Given the description of an element on the screen output the (x, y) to click on. 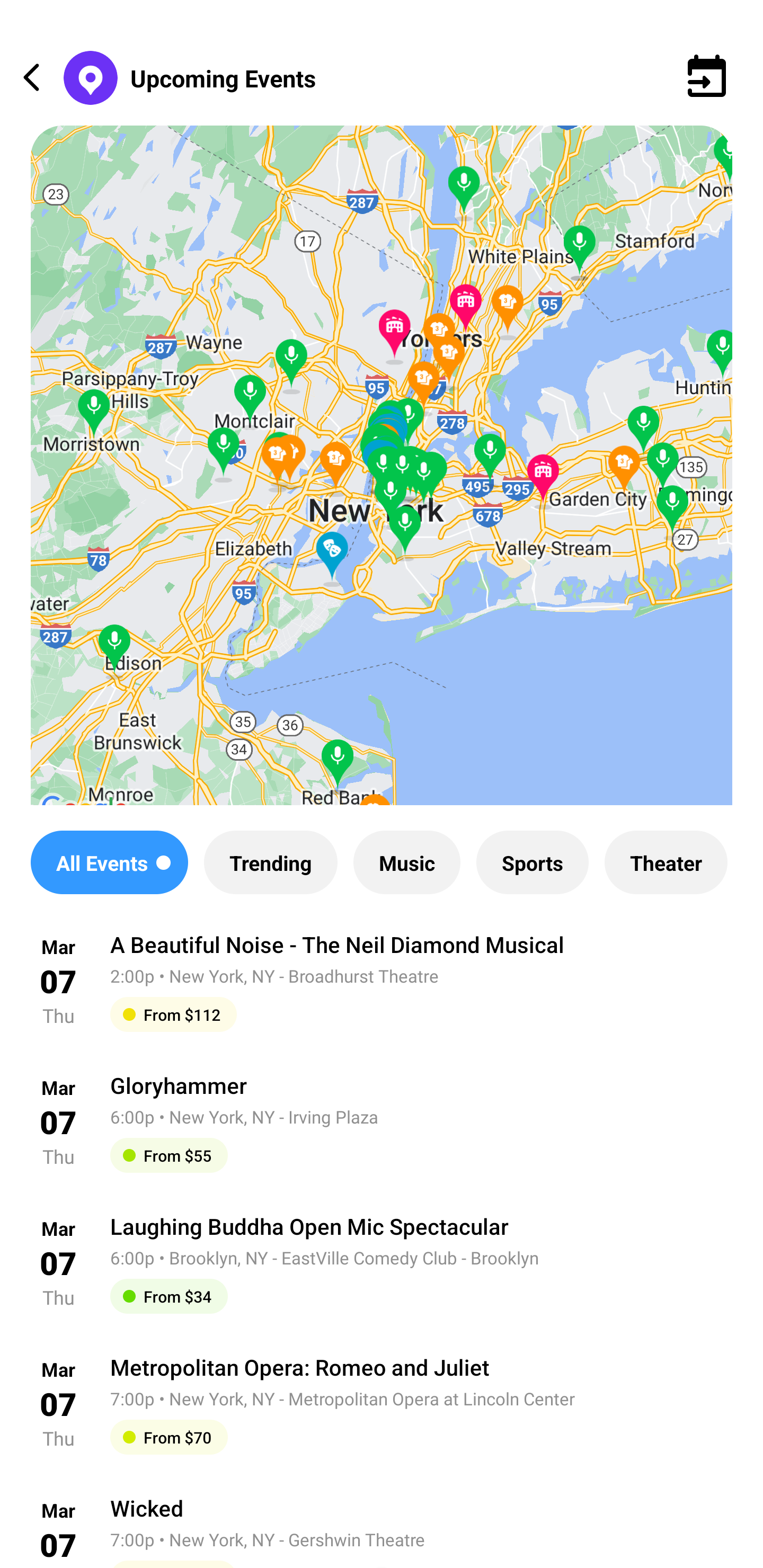
All Events (109, 862)
Trending (270, 862)
Music (406, 862)
Sports (532, 862)
Theater (665, 862)
